Given the description of an element on the screen output the (x, y) to click on. 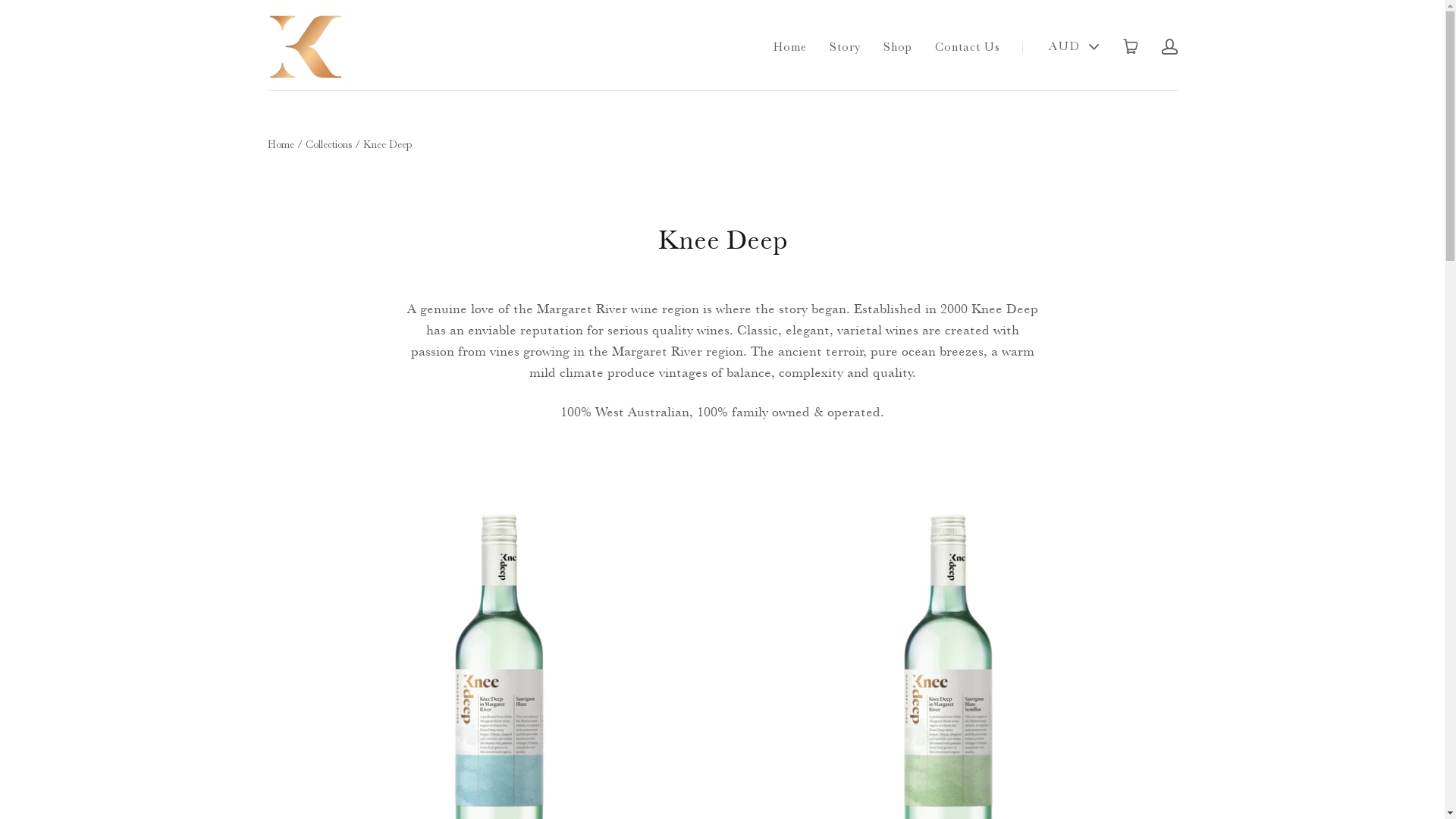
Home Element type: text (789, 46)
Shop Element type: text (896, 46)
Contact Us Element type: text (966, 46)
Collections Element type: text (327, 144)
Home Element type: text (279, 144)
Story Element type: text (844, 46)
